Given the description of an element on the screen output the (x, y) to click on. 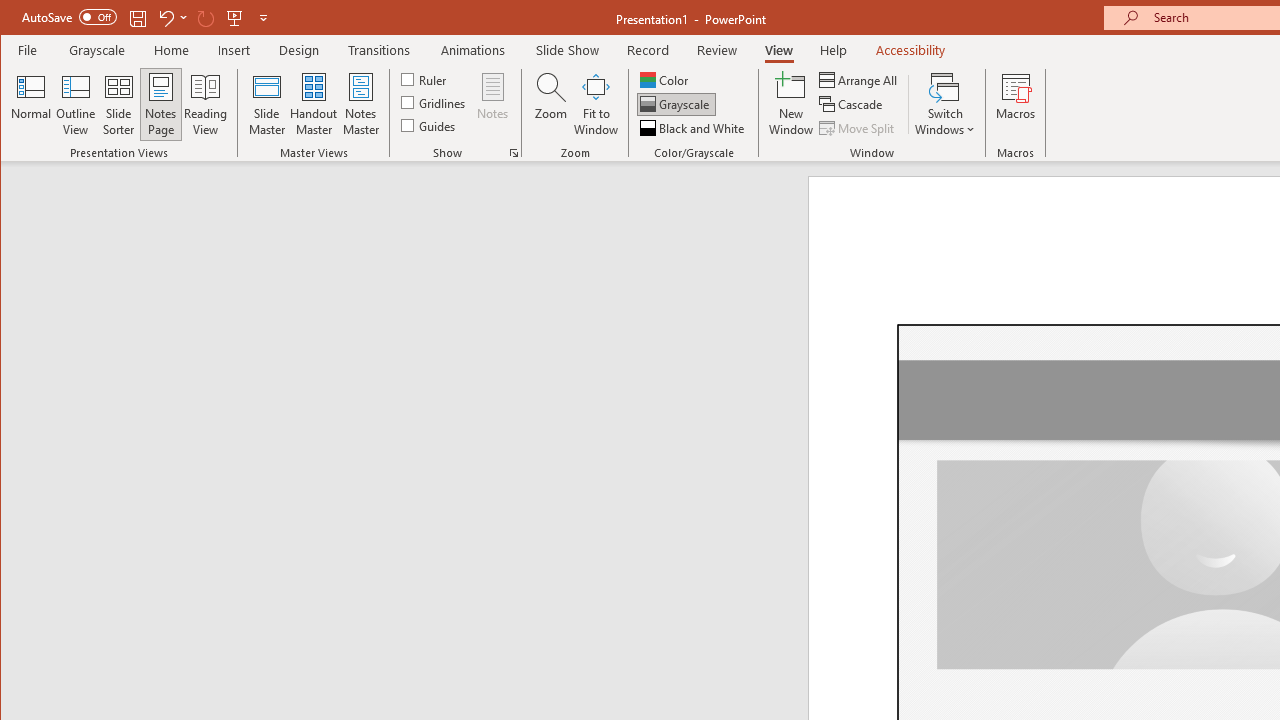
Handout Master (314, 104)
Zoom... (550, 104)
Black and White (694, 127)
Macros (1016, 104)
Switch Windows (944, 104)
Notes (493, 104)
New Window (791, 104)
Color (666, 80)
